Given the description of an element on the screen output the (x, y) to click on. 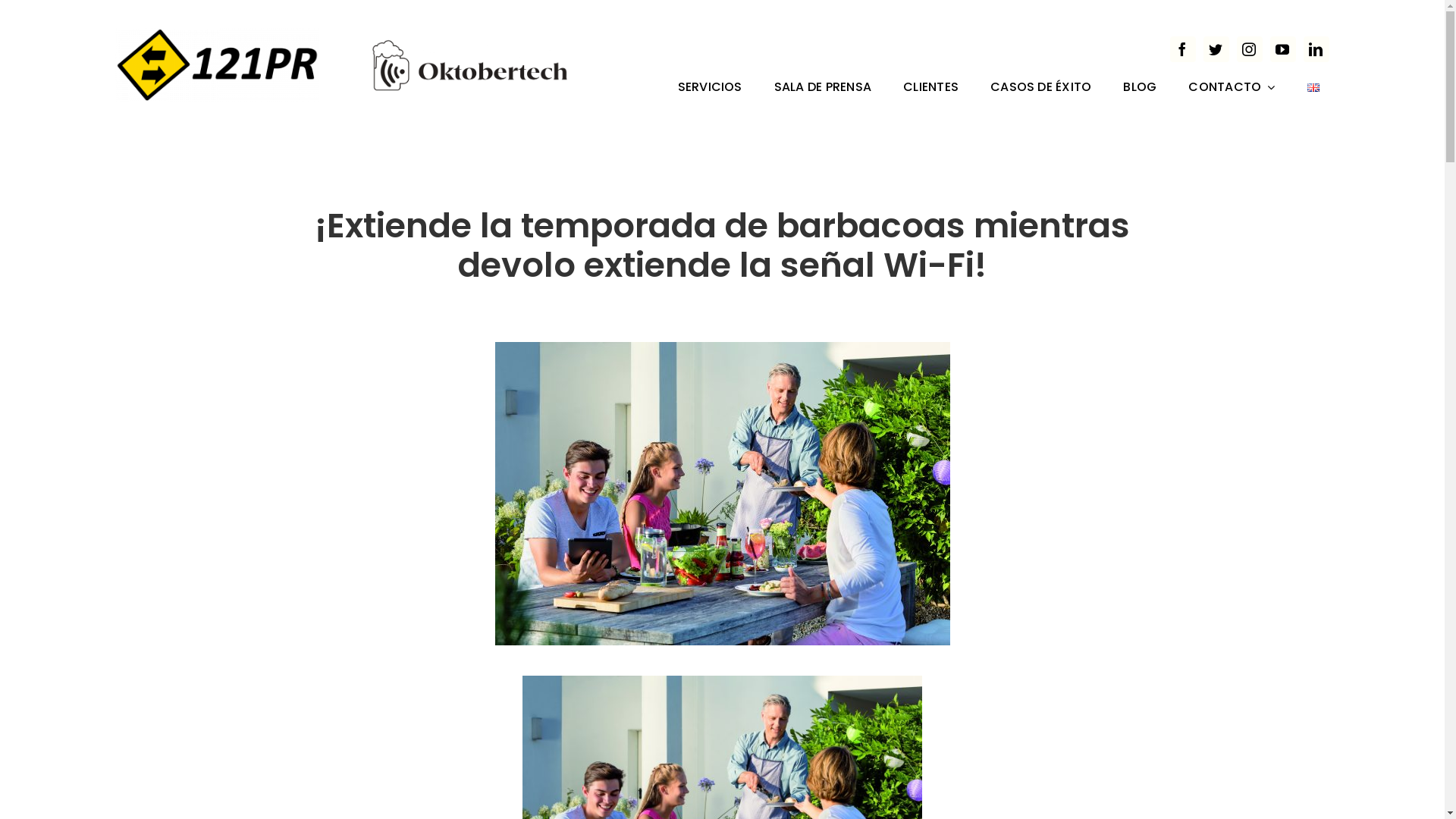
CONTACTO Element type: text (1231, 88)
CLIENTES Element type: text (930, 88)
SALA DE PRENSA Element type: text (822, 88)
SERVICIOS Element type: text (710, 88)
BLOG Element type: text (1139, 88)
devolo family barbeque_2 Element type: hover (721, 493)
